Given the description of an element on the screen output the (x, y) to click on. 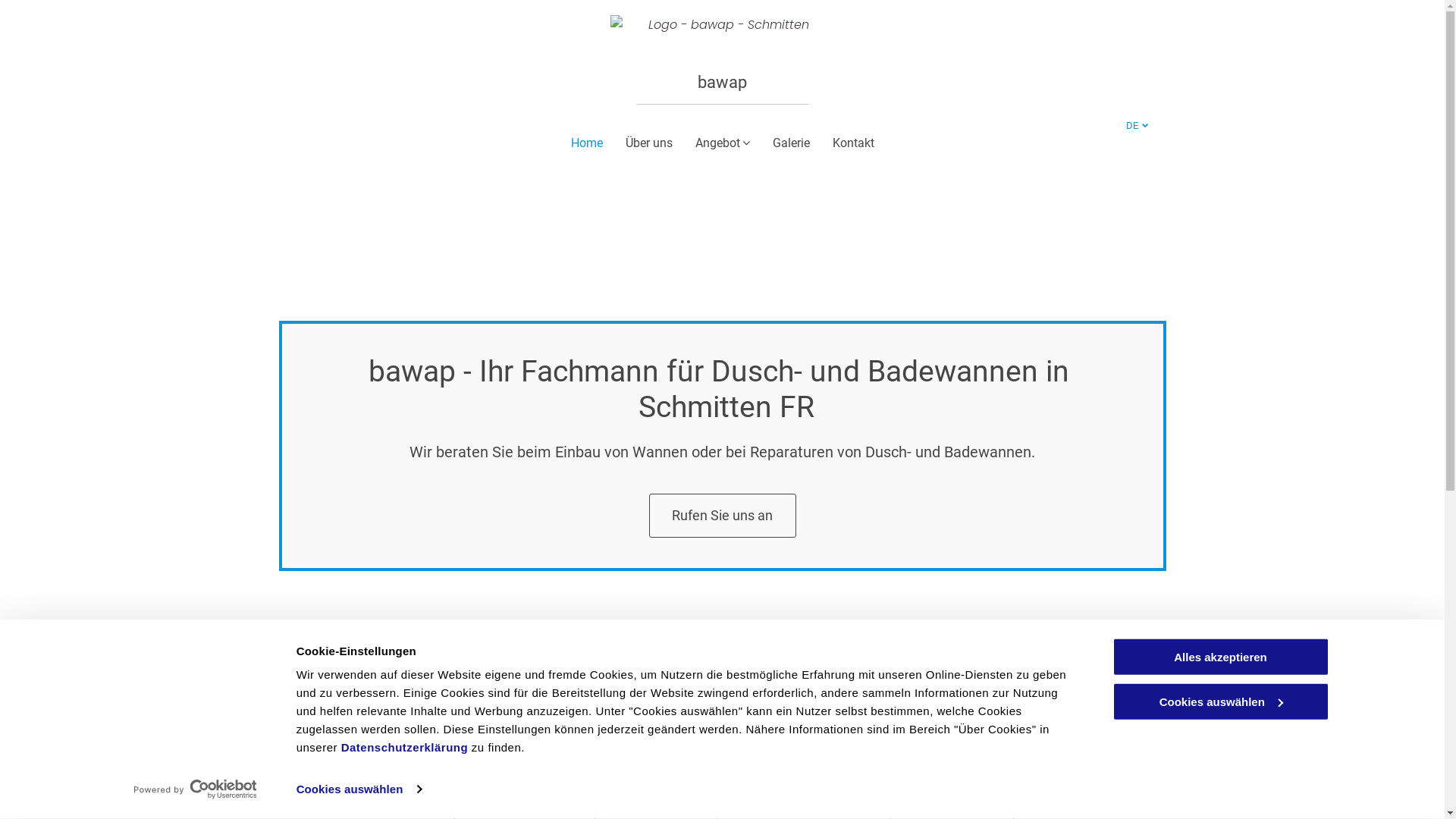
Kontakt Element type: text (853, 142)
Home Element type: text (586, 142)
Rufen Sie uns an Element type: text (722, 515)
Alles akzeptieren Element type: text (1219, 656)
Angebot Element type: text (721, 142)
DE Element type: text (1135, 125)
bawap Element type: text (721, 81)
Galerie Element type: text (790, 142)
